Given the description of an element on the screen output the (x, y) to click on. 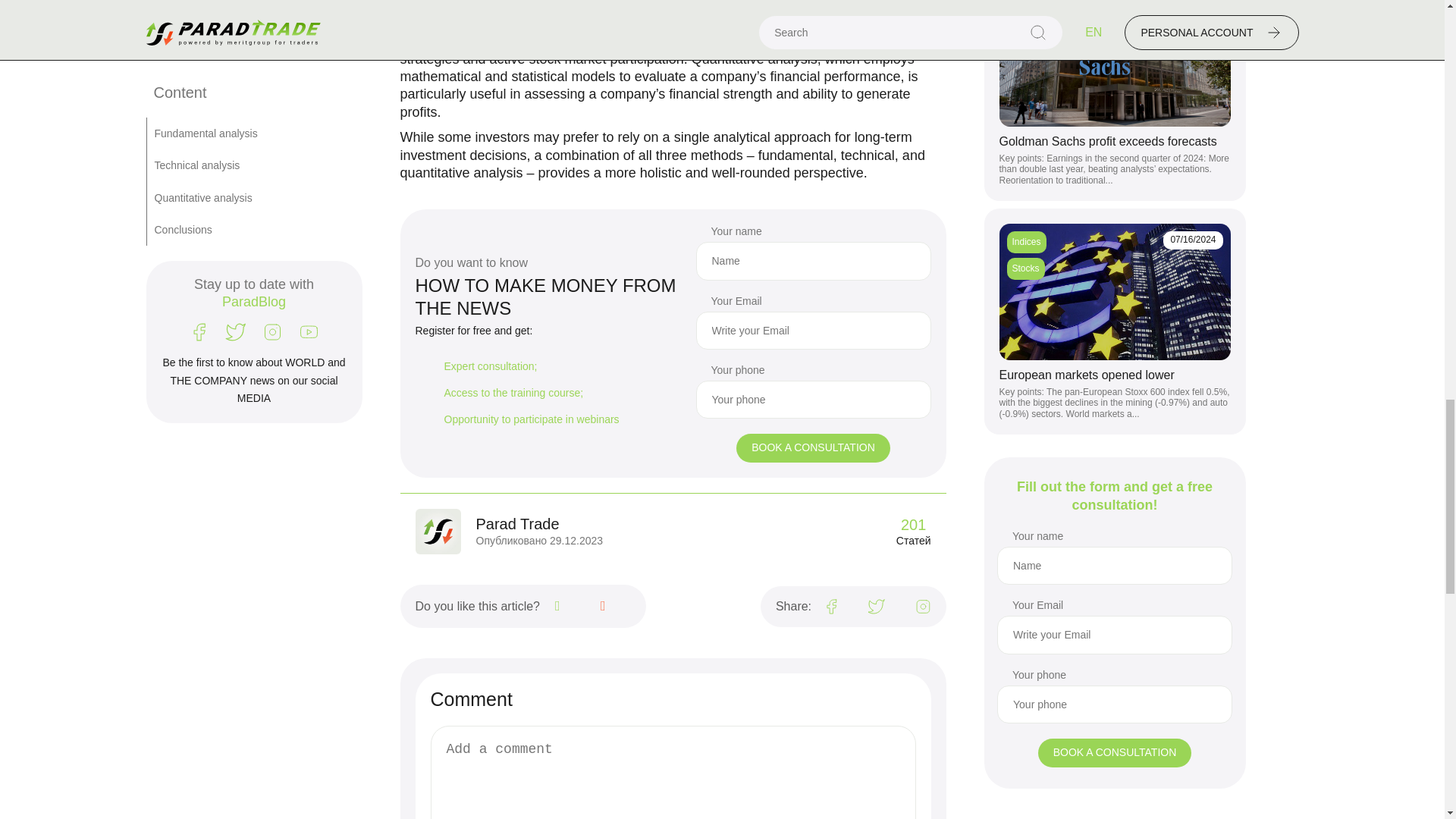
BOOK A CONSULTATION (812, 448)
